Given the description of an element on the screen output the (x, y) to click on. 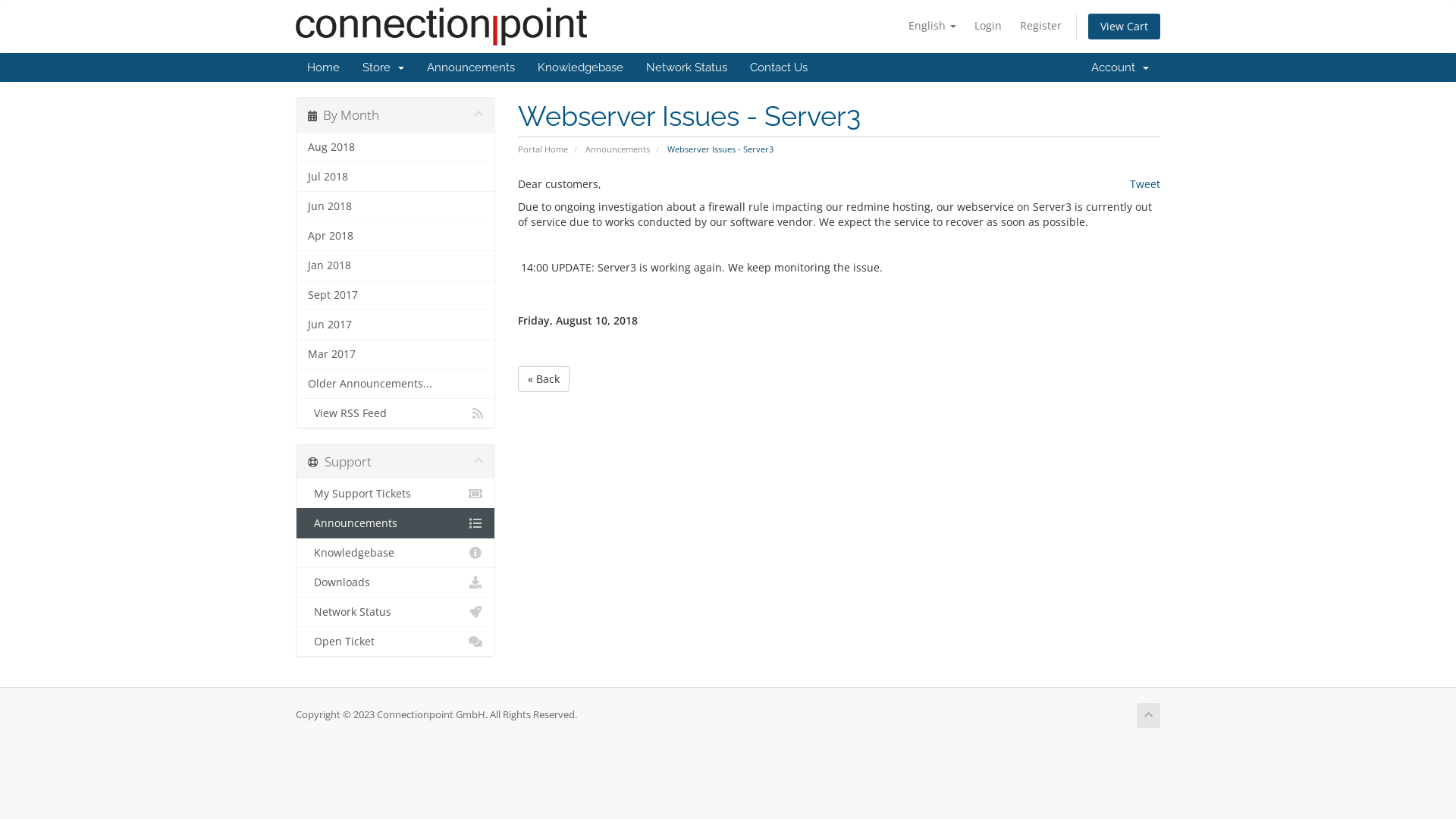
  Open Ticket Element type: text (395, 640)
Jun 2018 Element type: text (395, 206)
Login Element type: text (987, 25)
Contact Us Element type: text (778, 67)
Home Element type: text (323, 67)
Network Status Element type: text (686, 67)
Account   Element type: text (1119, 67)
Jan 2018 Element type: text (395, 265)
  Knowledgebase Element type: text (395, 552)
Portal Home Element type: text (542, 148)
Older Announcements... Element type: text (395, 383)
Knowledgebase Element type: text (580, 67)
Sept 2017 Element type: text (395, 294)
Tweet Element type: text (1144, 183)
  Announcements Element type: text (395, 523)
Aug 2018 Element type: text (395, 147)
Announcements Element type: text (617, 148)
Jul 2018 Element type: text (395, 176)
  View RSS Feed Element type: text (395, 412)
English Element type: text (931, 25)
Store   Element type: text (383, 67)
Jun 2017 Element type: text (395, 324)
  My Support Tickets Element type: text (395, 493)
Apr 2018 Element type: text (395, 235)
View Cart Element type: text (1124, 26)
Register Element type: text (1040, 25)
  Network Status Element type: text (395, 611)
  Downloads Element type: text (395, 582)
Announcements Element type: text (470, 67)
Mar 2017 Element type: text (395, 353)
